Given the description of an element on the screen output the (x, y) to click on. 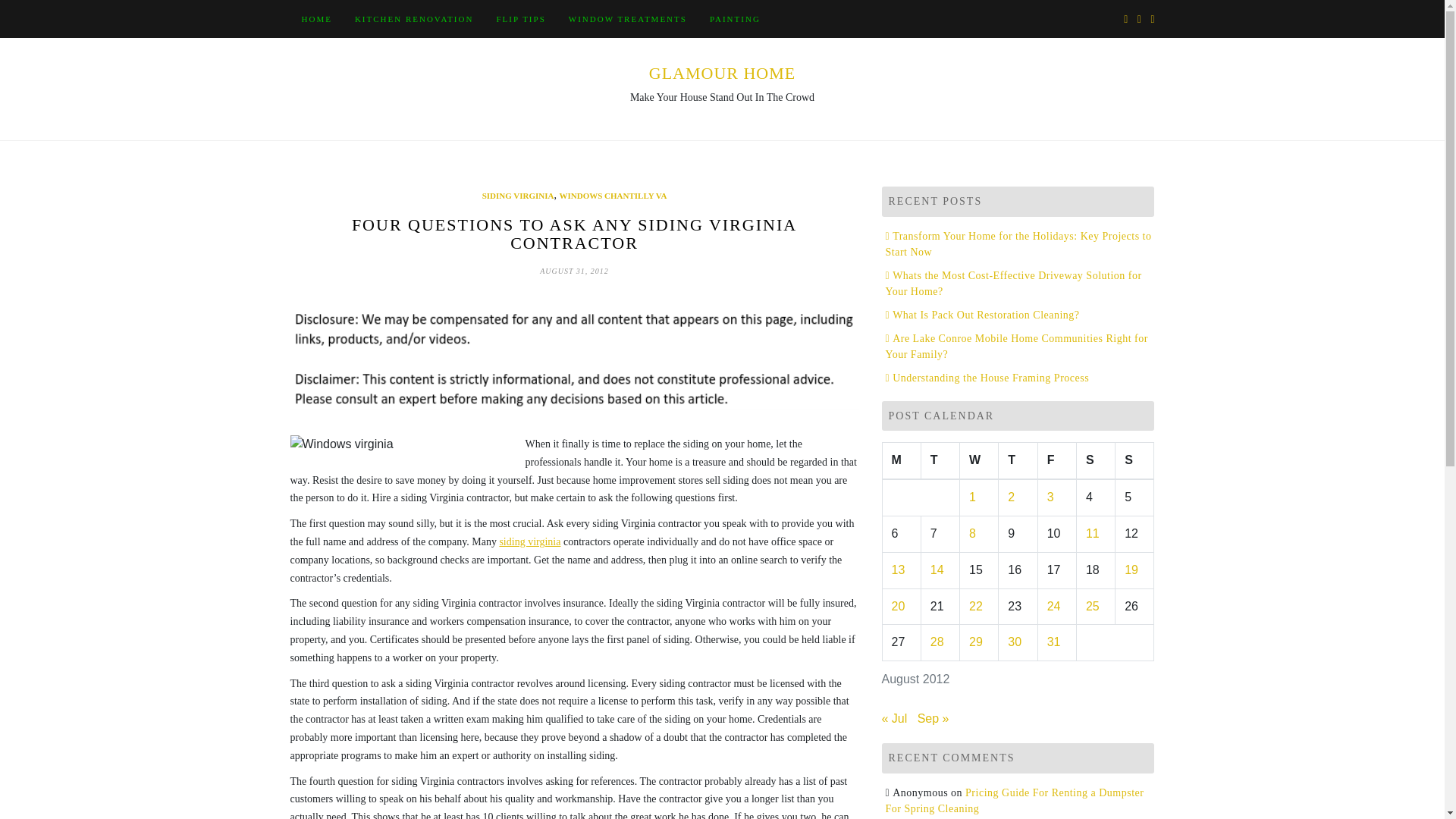
WINDOWS CHANTILLY VA (612, 196)
Understanding the House Framing Process (987, 378)
Saturday (1095, 461)
19 (1131, 569)
14 (936, 569)
GLAMOUR HOME (722, 72)
Wednesday (978, 461)
SIDING VIRGINIA (517, 196)
For more information related to Siding virginia (529, 541)
11 (1092, 533)
